Given the description of an element on the screen output the (x, y) to click on. 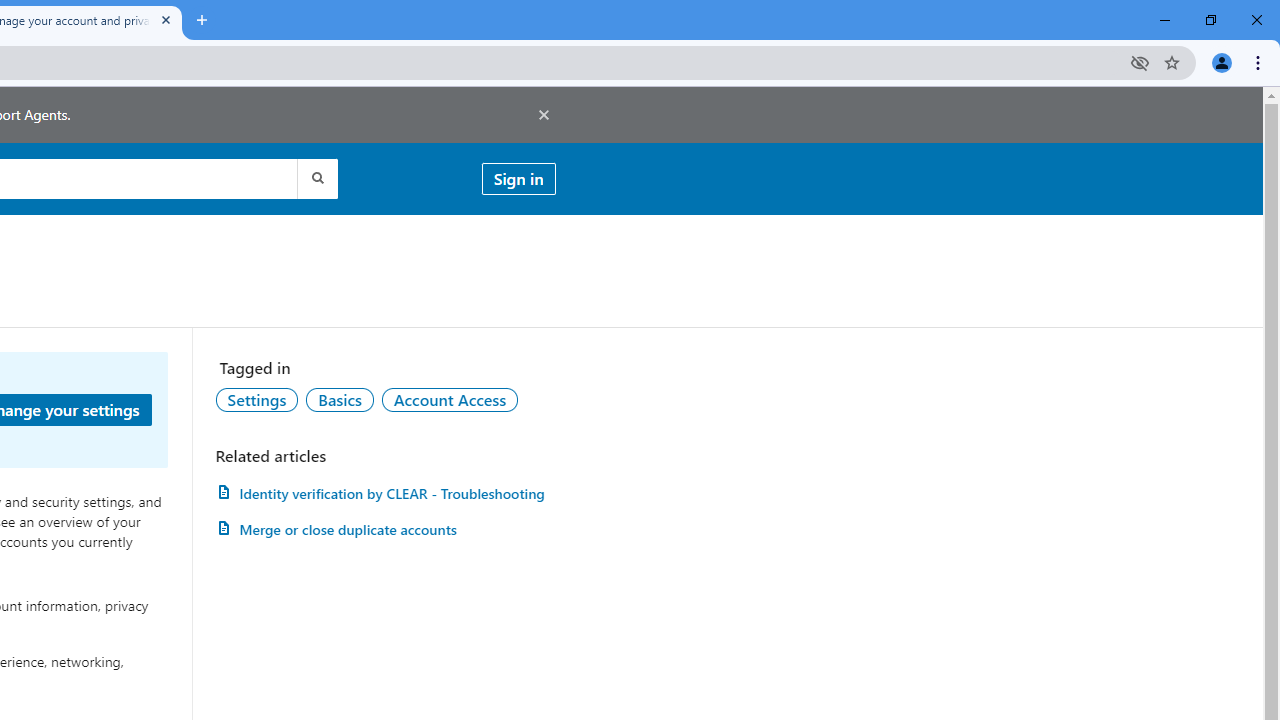
Account Access (449, 399)
Basics (339, 399)
Merge or close duplicate accounts (385, 529)
AutomationID: article-link-a1457505 (385, 493)
Submit search (316, 178)
AutomationID: article-link-a1337200 (385, 529)
